Given the description of an element on the screen output the (x, y) to click on. 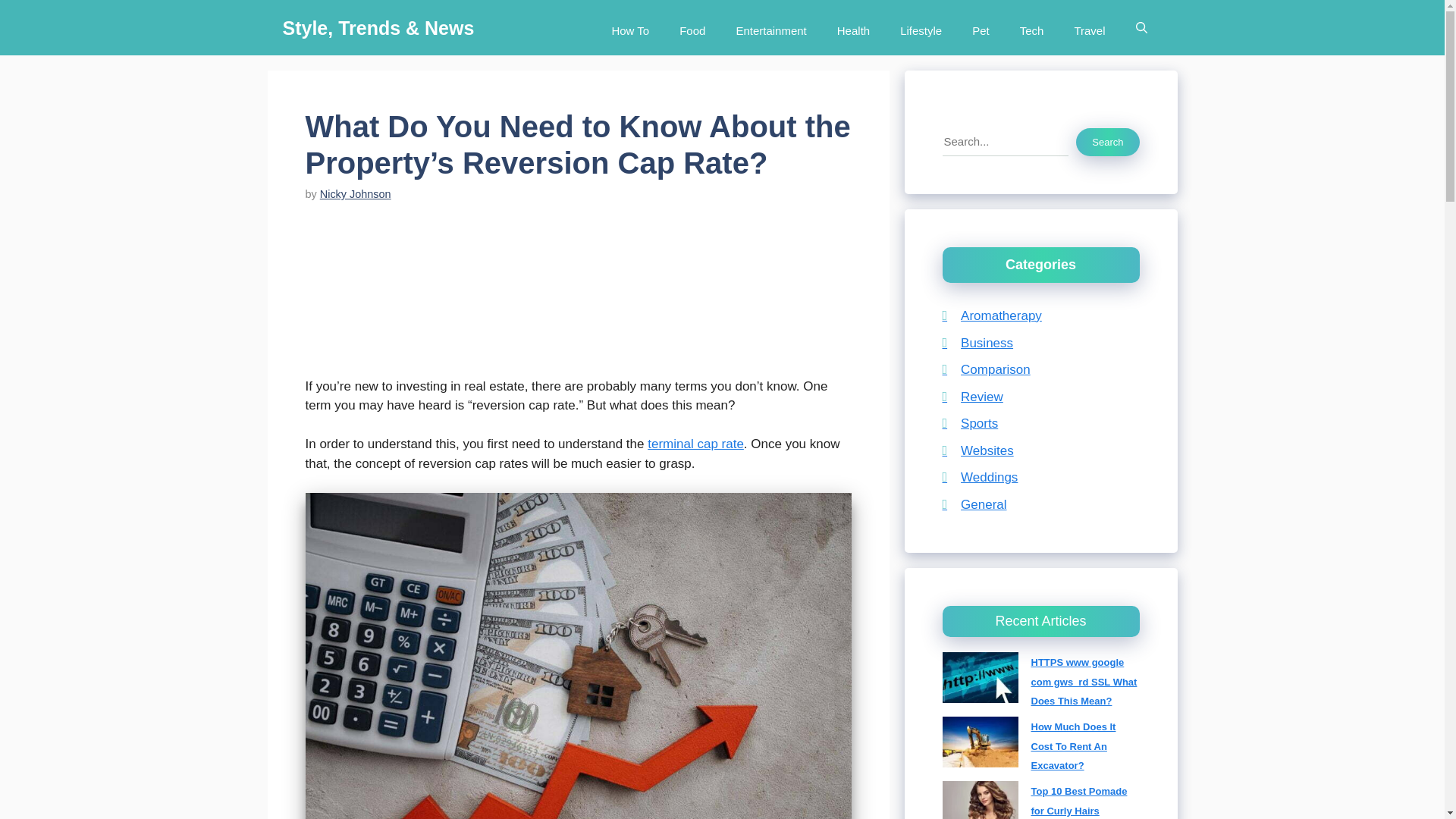
Entertainment (770, 27)
How To (629, 27)
Health (853, 27)
terminal cap rate (695, 443)
Sports (969, 423)
Review (972, 396)
Food (691, 27)
Travel (1088, 27)
Comparison (985, 369)
Tech (1031, 27)
Search (1106, 141)
Business (977, 341)
Nicky Johnson (355, 193)
Advertisement (585, 299)
Aromatherapy (991, 315)
